Given the description of an element on the screen output the (x, y) to click on. 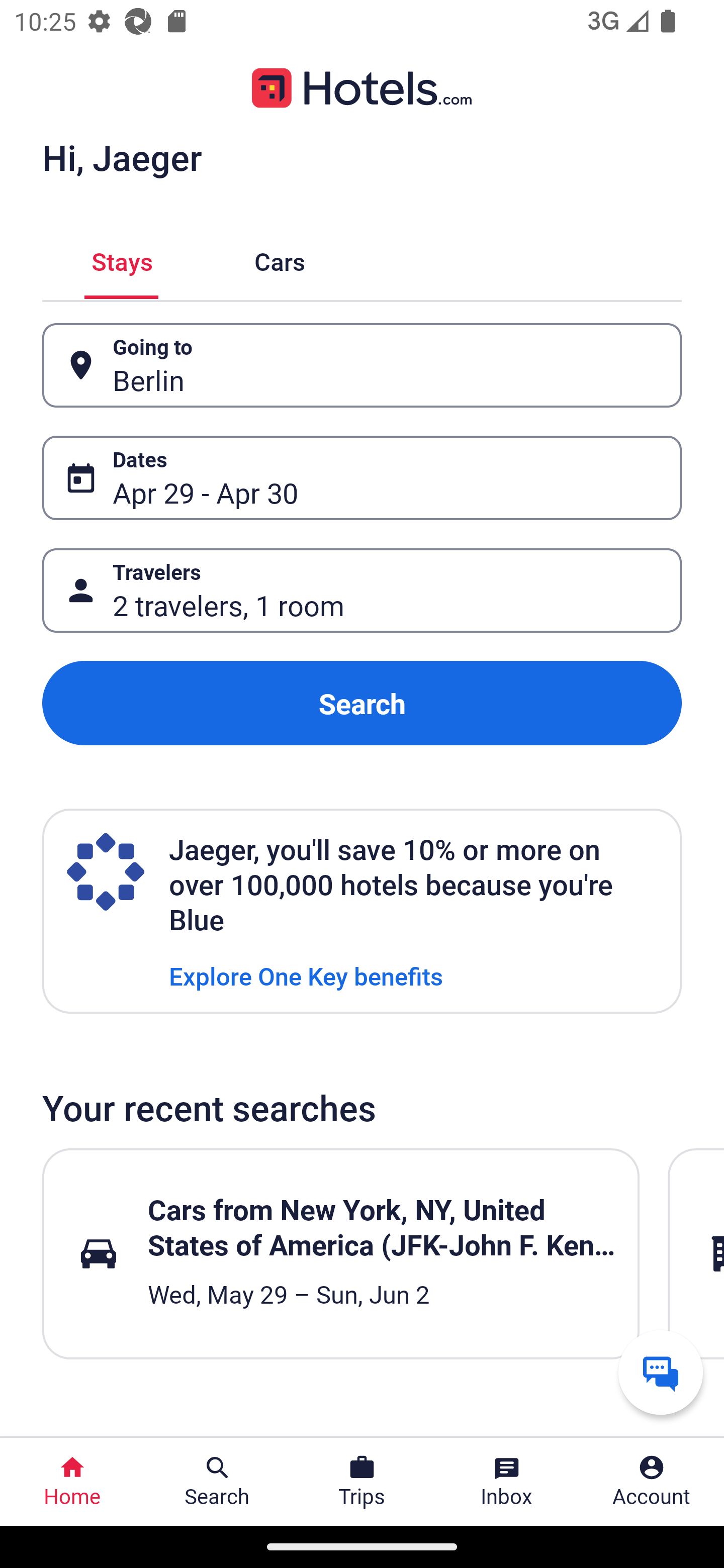
Hi, Jaeger (121, 156)
Cars (279, 259)
Going to Button Berlin (361, 365)
Dates Button Apr 29 - Apr 30 (361, 477)
Travelers Button 2 travelers, 1 room (361, 590)
Search (361, 702)
Get help from a virtual agent (660, 1371)
Search Search Button (216, 1481)
Trips Trips Button (361, 1481)
Inbox Inbox Button (506, 1481)
Account Profile. Button (651, 1481)
